Given the description of an element on the screen output the (x, y) to click on. 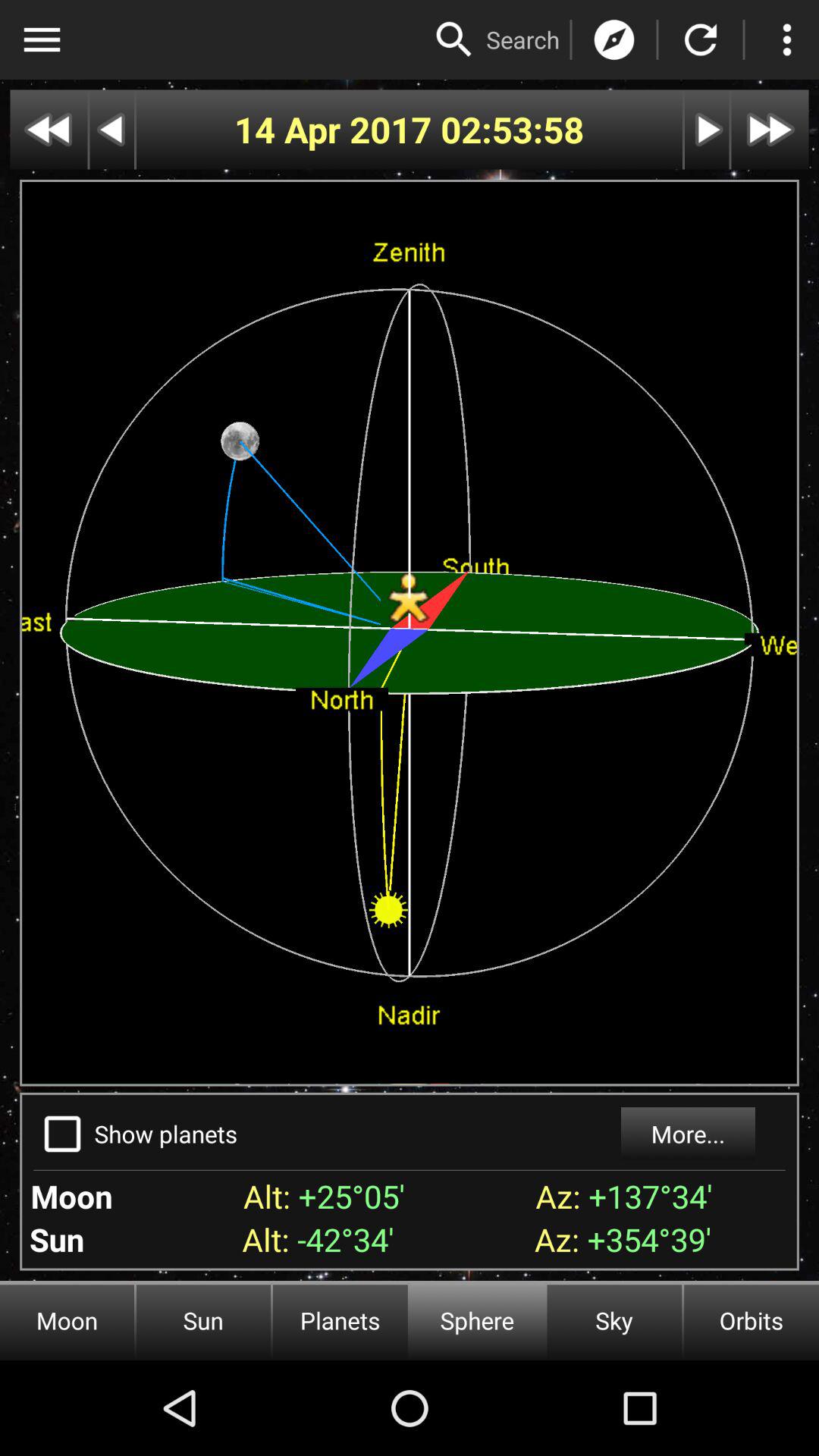
show planets (62, 1133)
